Given the description of an element on the screen output the (x, y) to click on. 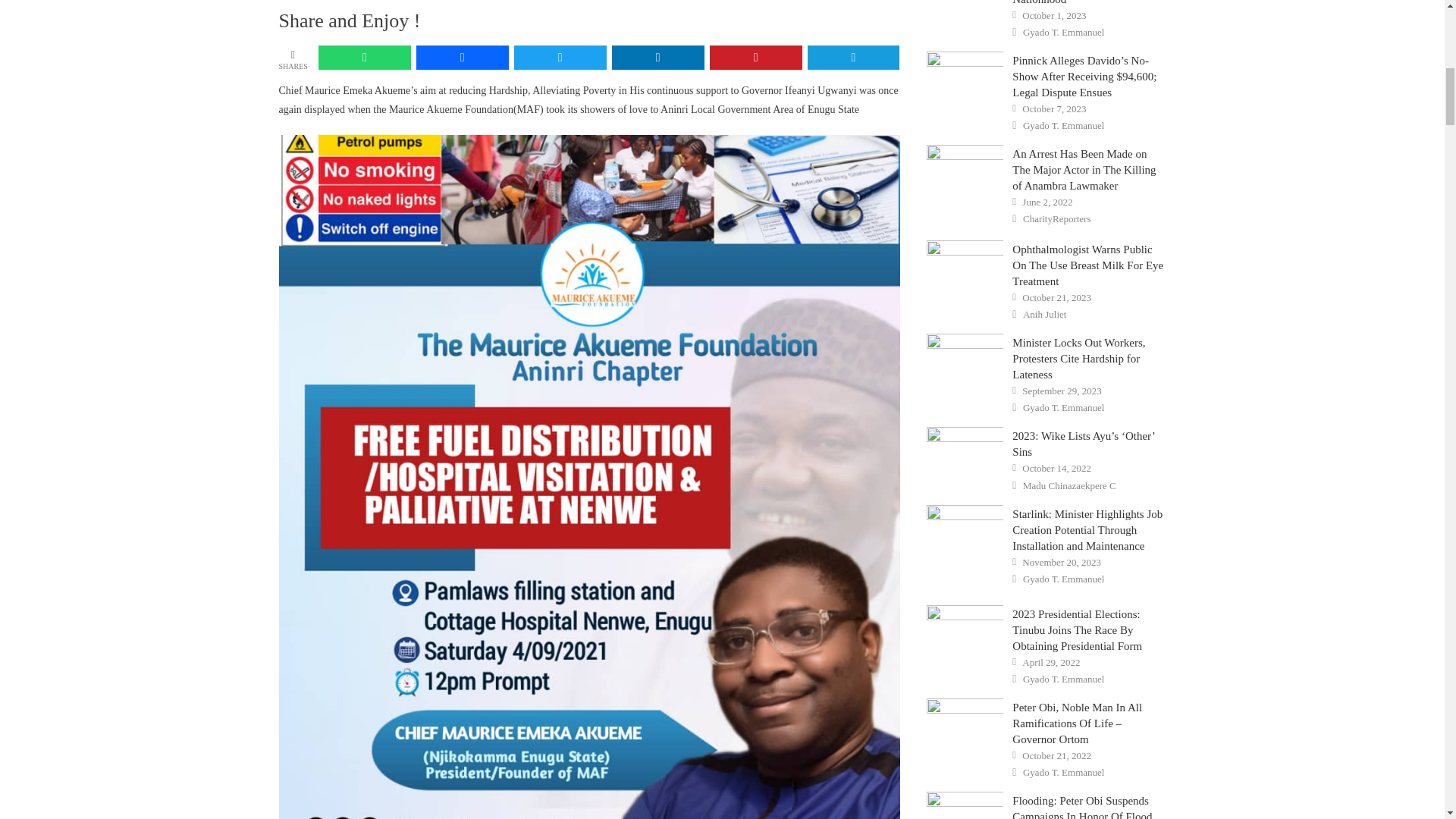
Share this on Facebook (462, 57)
Submit this to Pinterest (756, 57)
Telegram (853, 57)
Add this to LinkedIn (657, 57)
Tweet this ! (560, 57)
WhatsApp (364, 57)
